Given the description of an element on the screen output the (x, y) to click on. 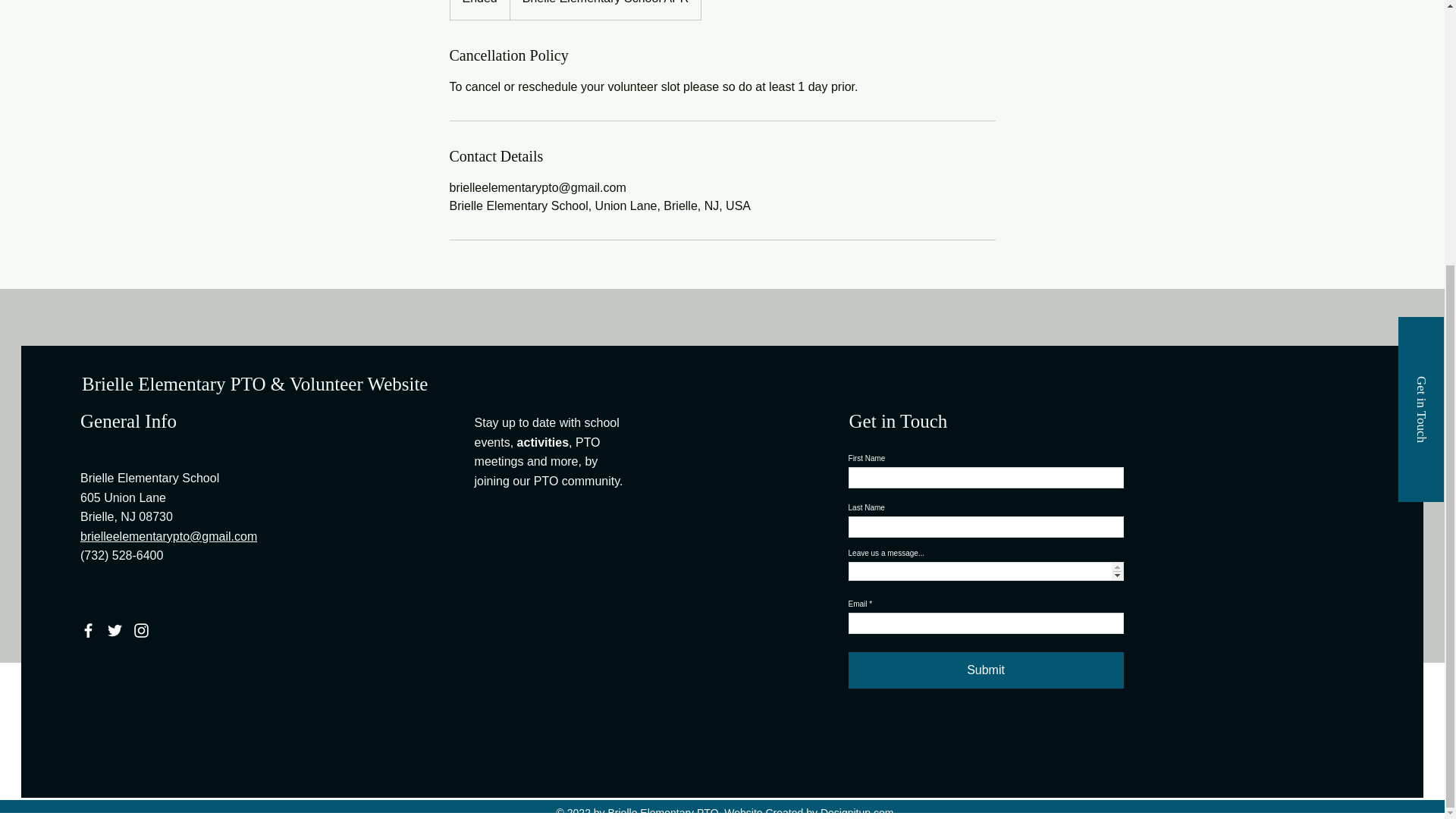
Submit (986, 669)
